Given the description of an element on the screen output the (x, y) to click on. 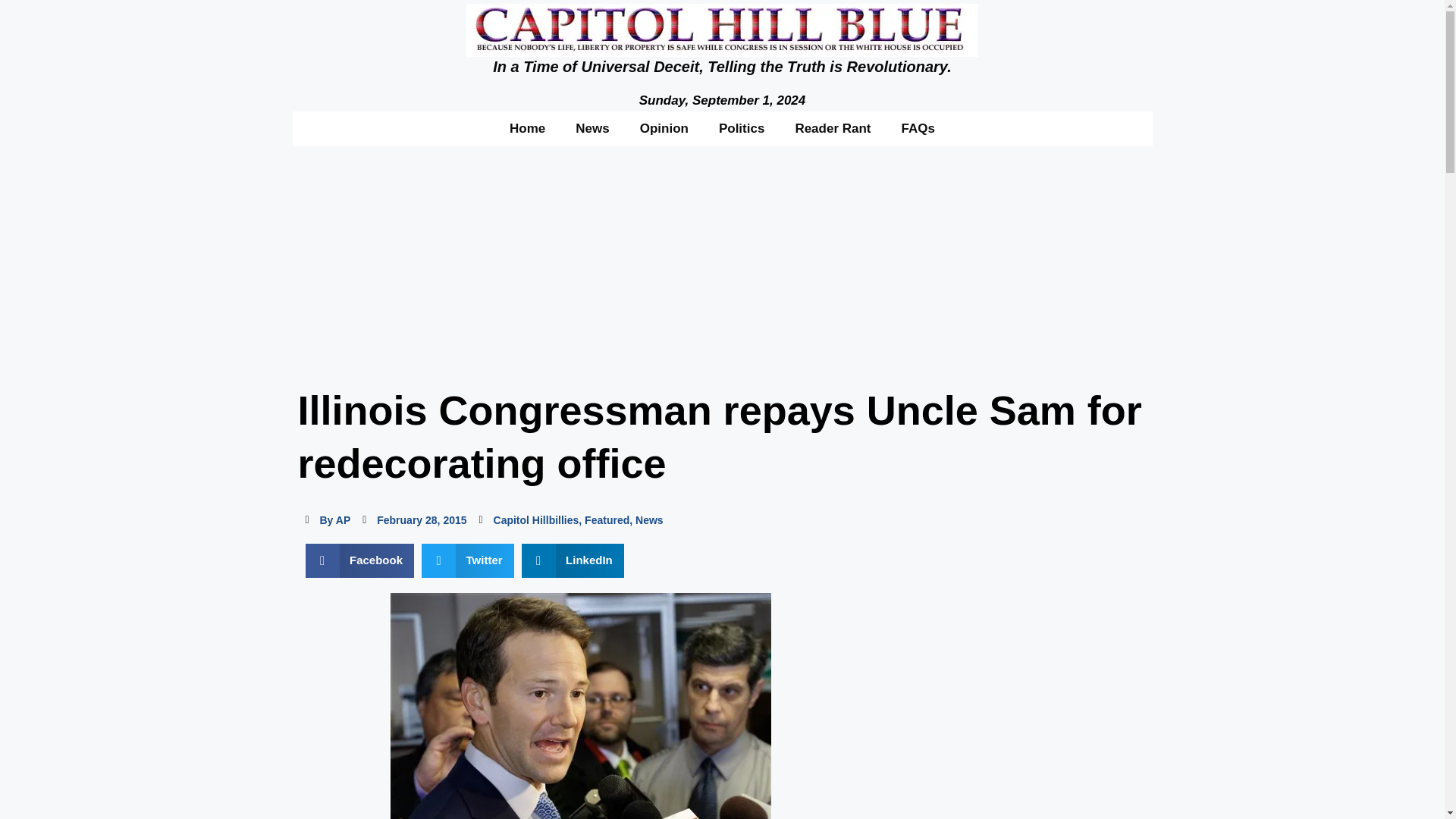
News (592, 127)
FAQs (918, 127)
Reader Rant (831, 127)
Home (527, 127)
February 28, 2015 (413, 520)
Capitol Hillbillies (536, 520)
Politics (740, 127)
News (648, 520)
Featured (606, 520)
Opinion (663, 127)
